Given the description of an element on the screen output the (x, y) to click on. 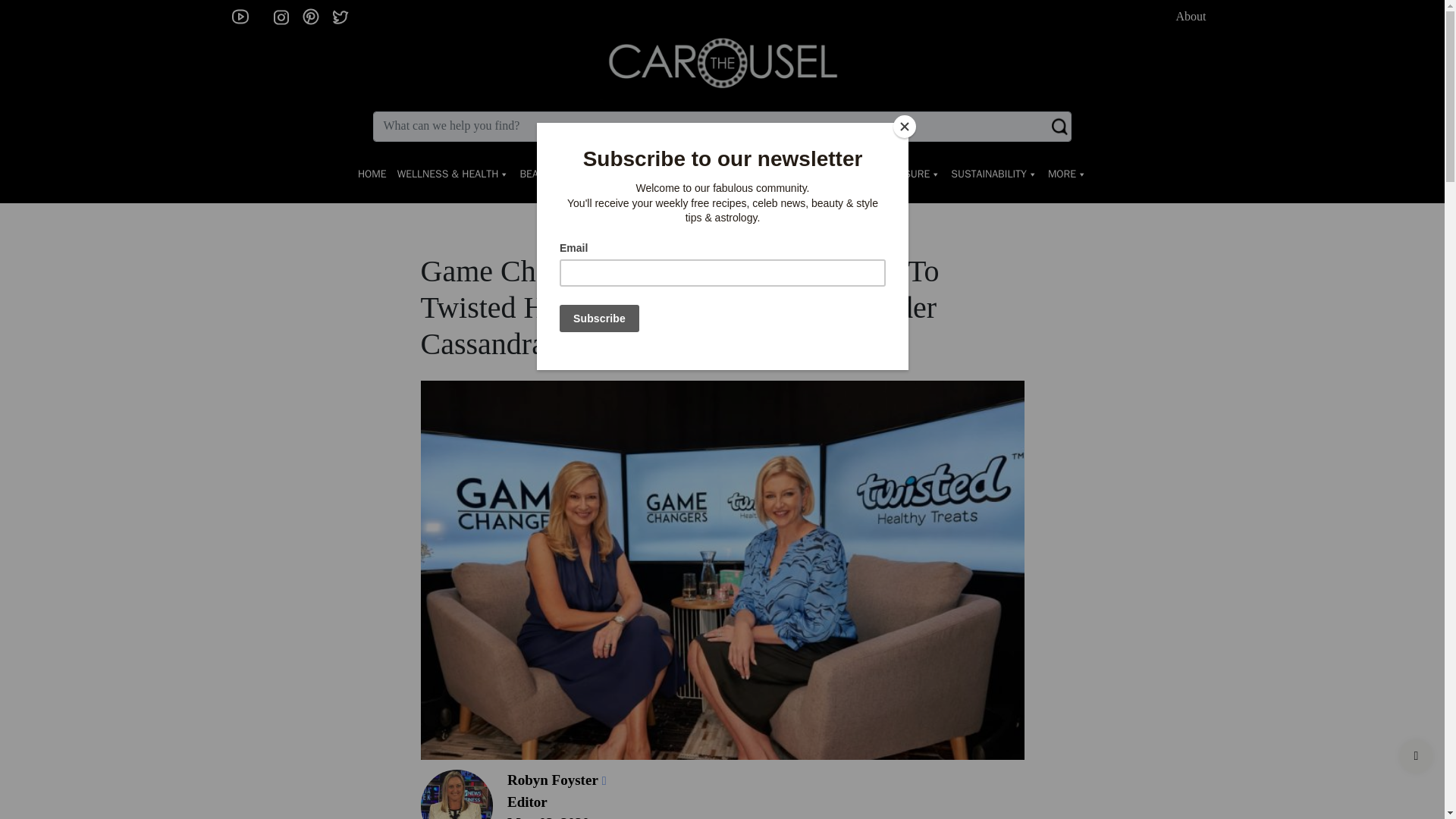
About (1193, 15)
Search (721, 126)
HOME (371, 173)
